Given the description of an element on the screen output the (x, y) to click on. 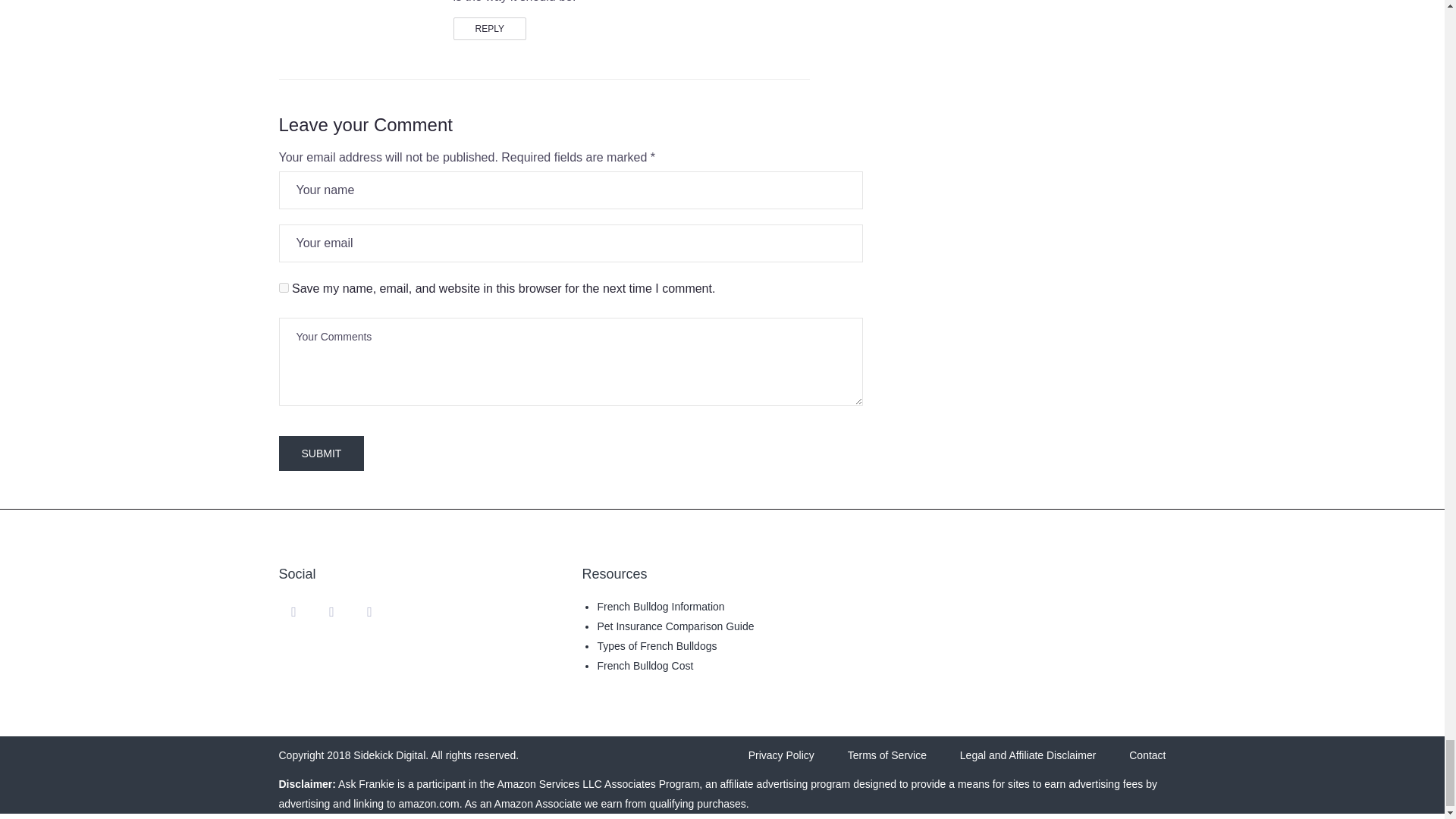
Terms of Service (886, 754)
yes (283, 287)
Privacy Policy (780, 754)
SUBMIT (322, 452)
Legal and Affiliate Disclaimer (1027, 754)
